Given the description of an element on the screen output the (x, y) to click on. 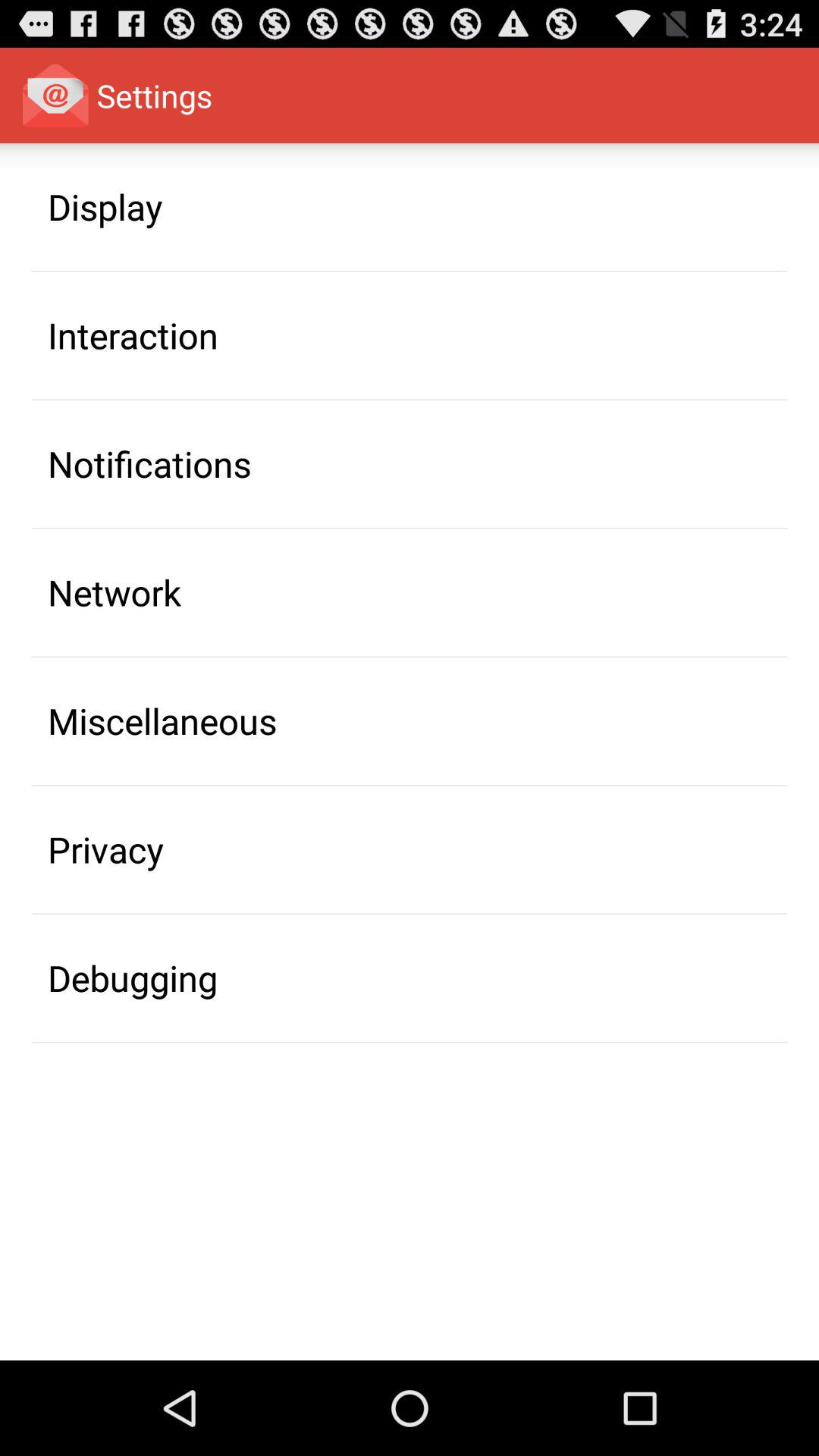
scroll until the miscellaneous icon (161, 720)
